Given the description of an element on the screen output the (x, y) to click on. 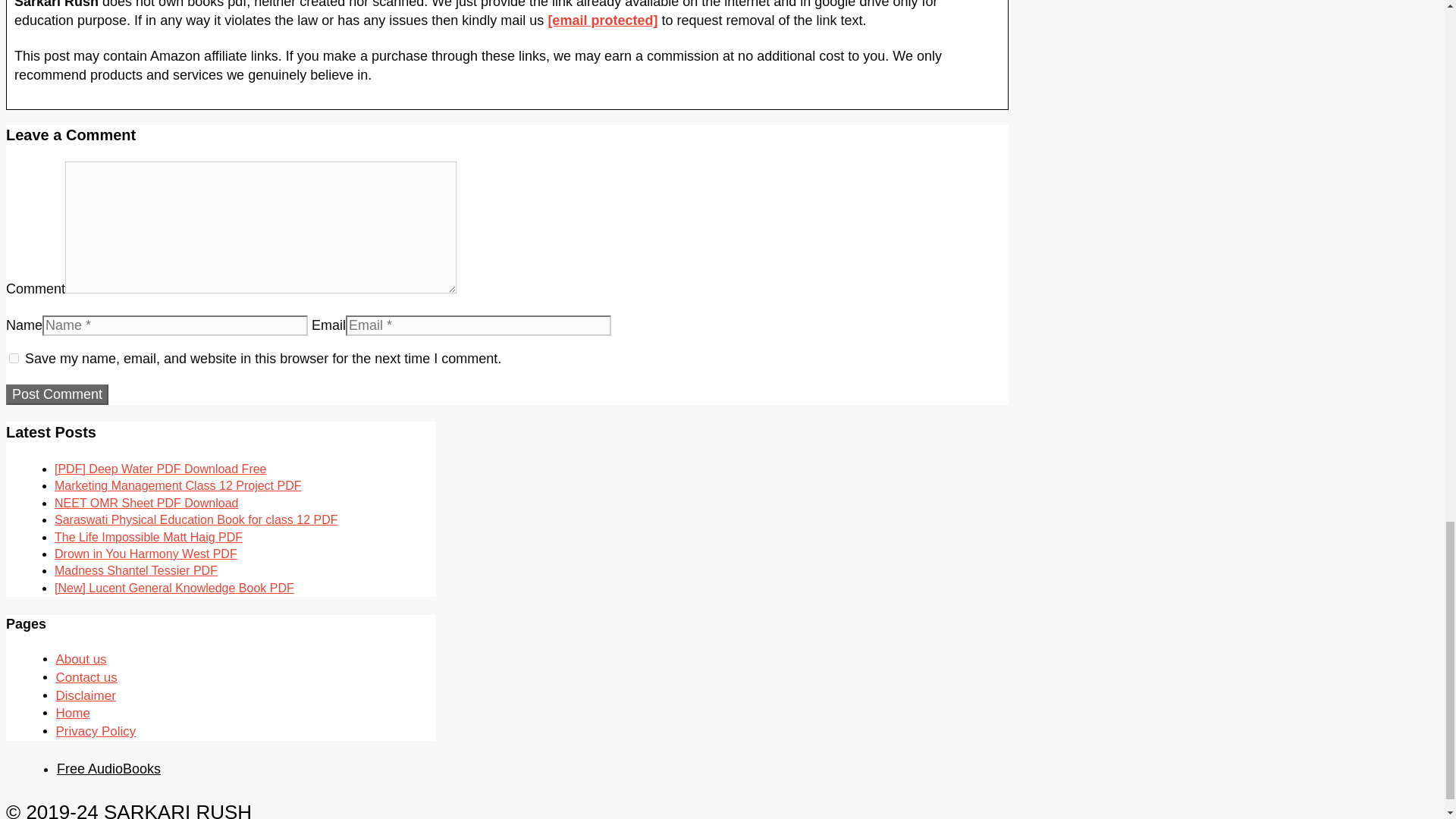
yes (13, 357)
Saraswati Physical Education Book for class 12 PDF (196, 519)
The Life Impossible Matt Haig PDF (149, 536)
Post Comment (56, 394)
Drown in You Harmony West PDF (146, 553)
Marketing Management Class 12 Project PDF (178, 485)
Madness Shantel Tessier PDF (135, 570)
Post Comment (56, 394)
NEET OMR Sheet PDF Download (146, 502)
